Given the description of an element on the screen output the (x, y) to click on. 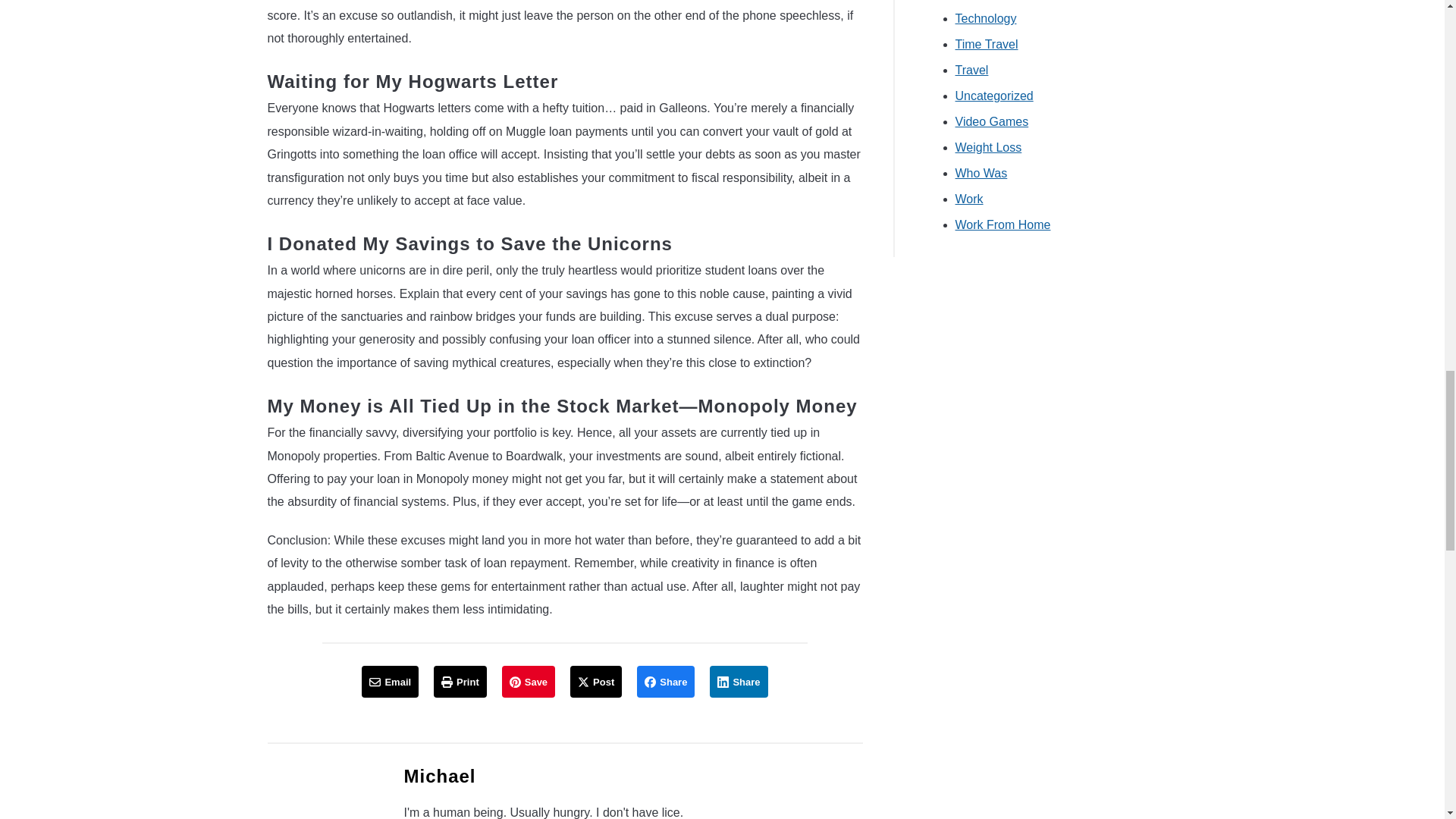
Save (528, 681)
Share (738, 681)
Print (459, 681)
Email (390, 681)
Share (665, 681)
Michael (439, 775)
Post (595, 681)
